Given the description of an element on the screen output the (x, y) to click on. 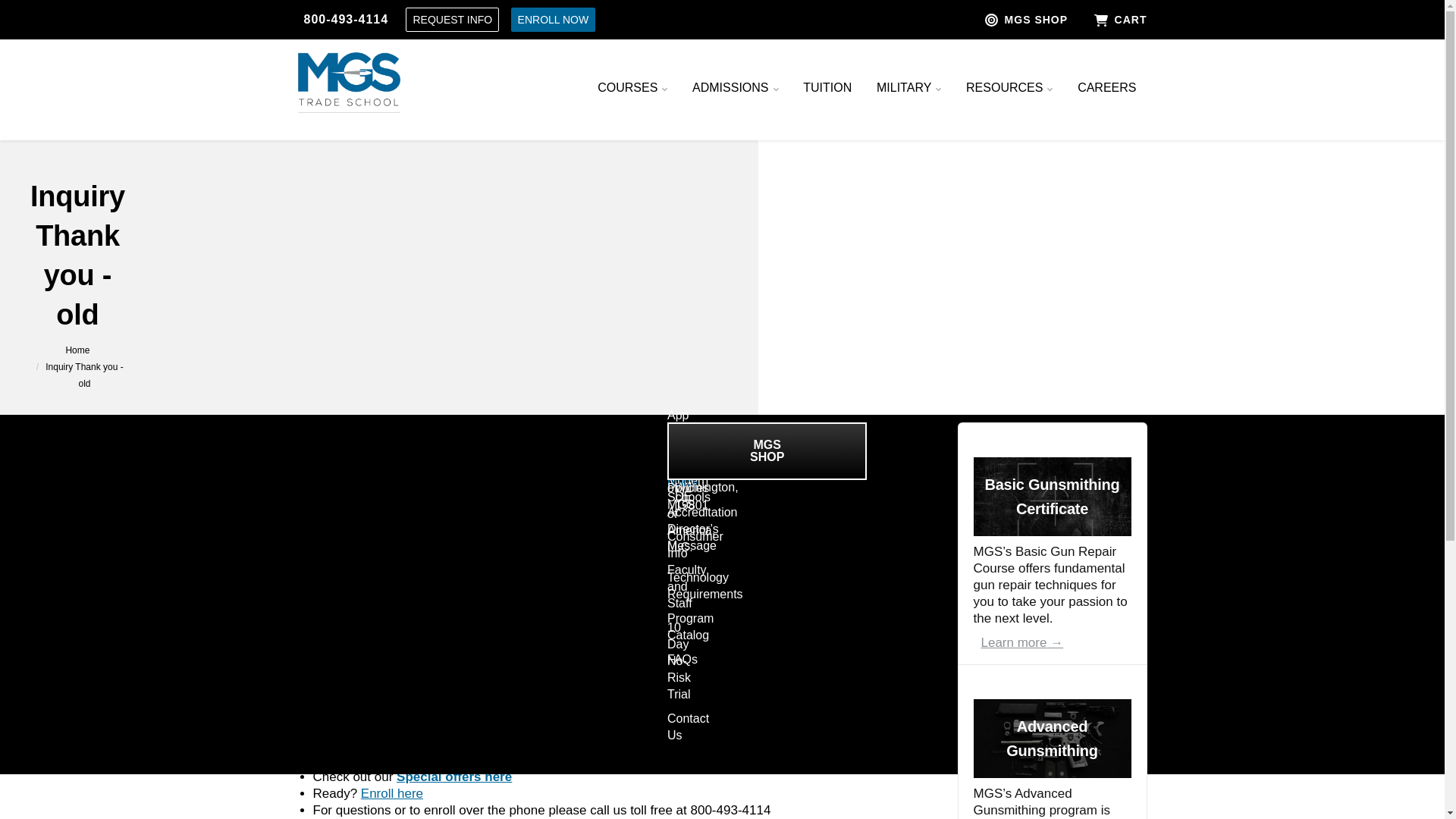
TUITION (826, 88)
MGS Program Outline (344, 681)
Course Outline (505, 681)
COURSES (632, 88)
Home (76, 349)
Special offers here (454, 776)
ADMISSIONS (734, 88)
800-493-4114 (345, 19)
Enroll here (392, 793)
Learn more (1022, 642)
CART (1112, 19)
REQUEST INFO (451, 19)
MGS SHOP (1028, 19)
Modern Gun School Courses (454, 776)
Enroll Today in MGS (392, 793)
